Given the description of an element on the screen output the (x, y) to click on. 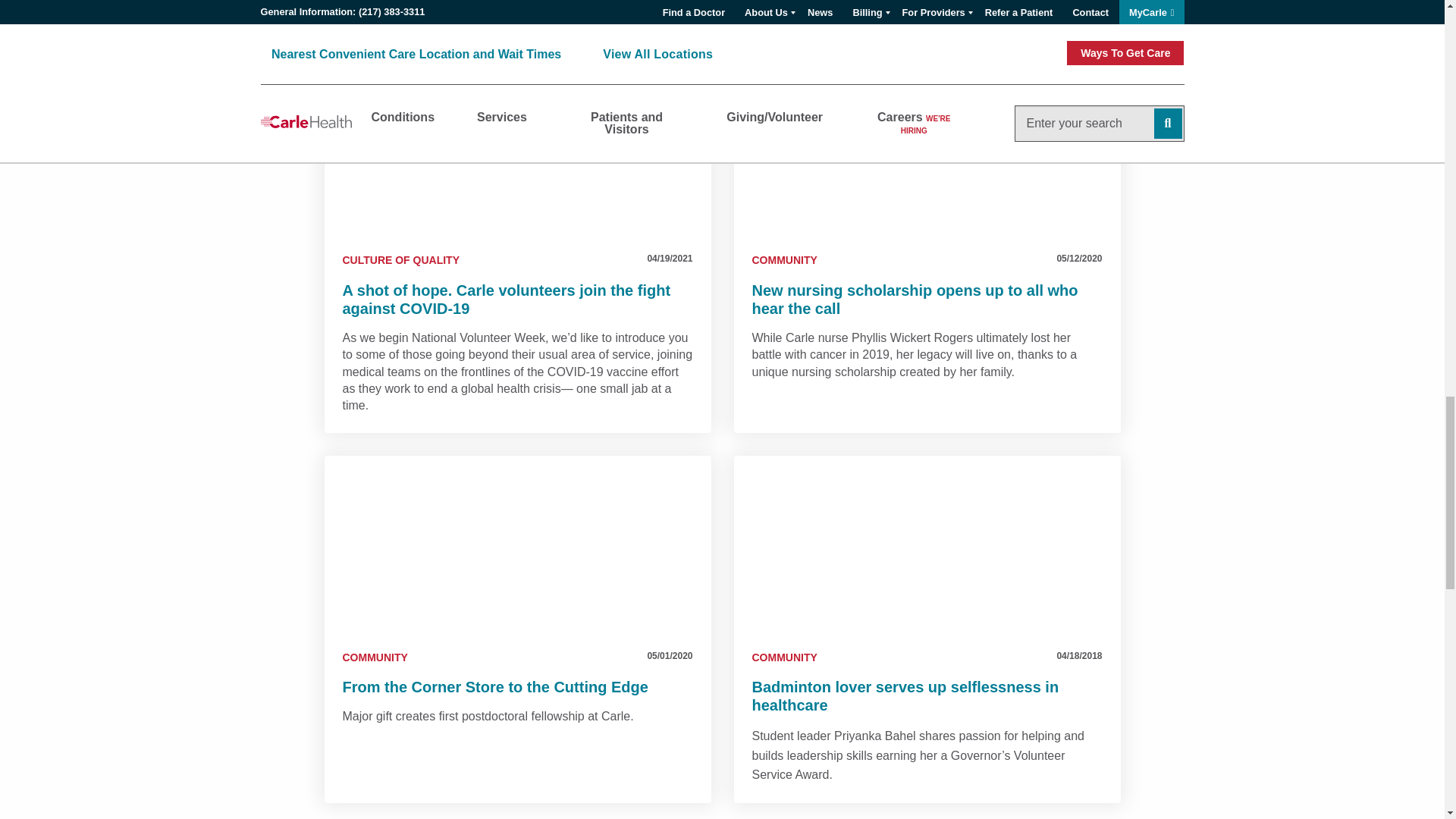
New nursing scholarship opens up to all who hear the call (927, 149)
From the Corner Store to the Cutting Edge (517, 546)
Badminton lover serves up selflessness in healthcare (927, 546)
